Given the description of an element on the screen output the (x, y) to click on. 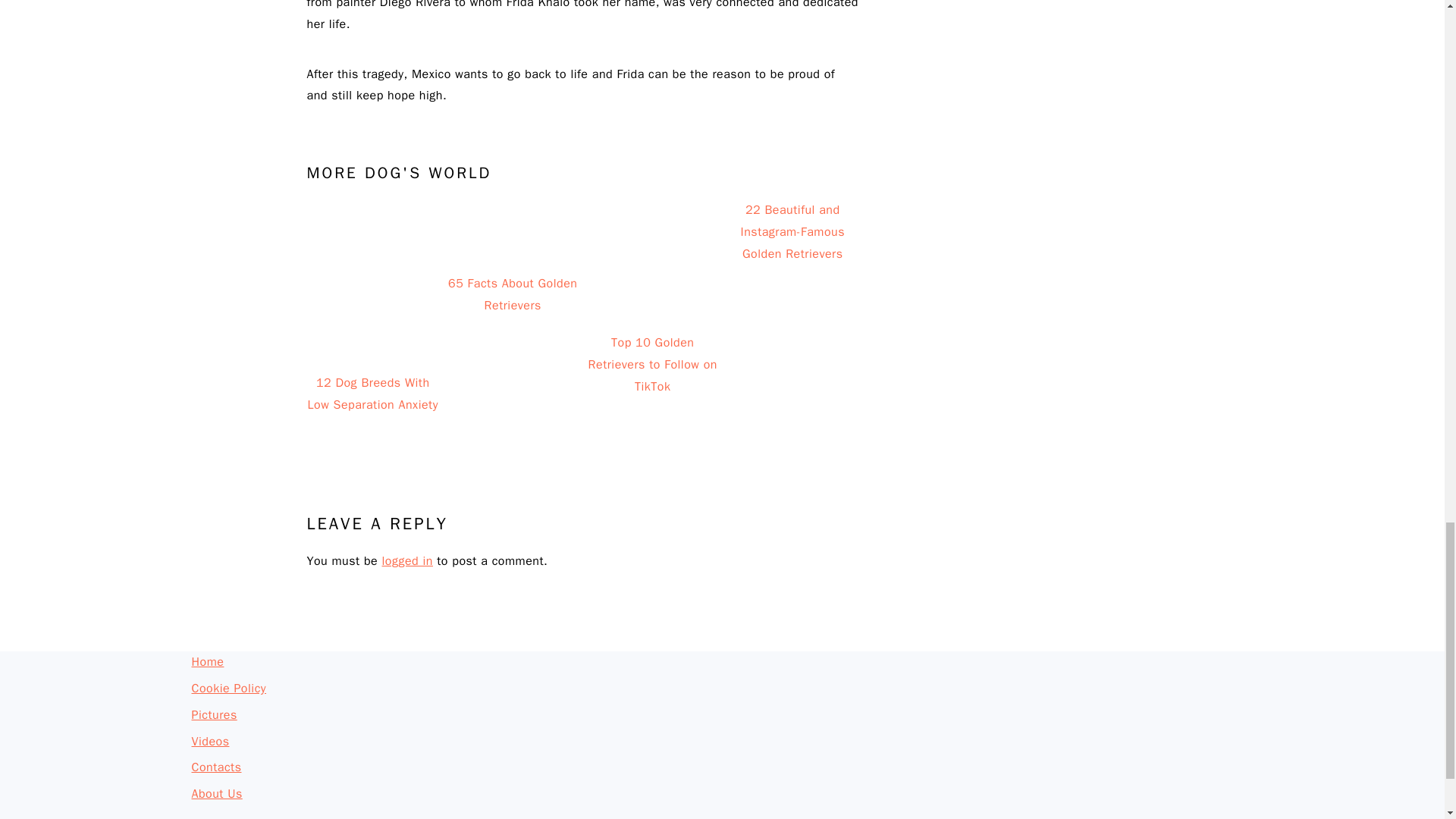
Top 10 Golden Retrievers to Follow on TikTok (652, 307)
65 Facts About Golden Retrievers (512, 307)
logged in (406, 560)
22 Beautiful and Instagram-Famous Golden Retrievers (792, 307)
12 Dog Breeds With Low Separation Anxiety (372, 307)
